Given the description of an element on the screen output the (x, y) to click on. 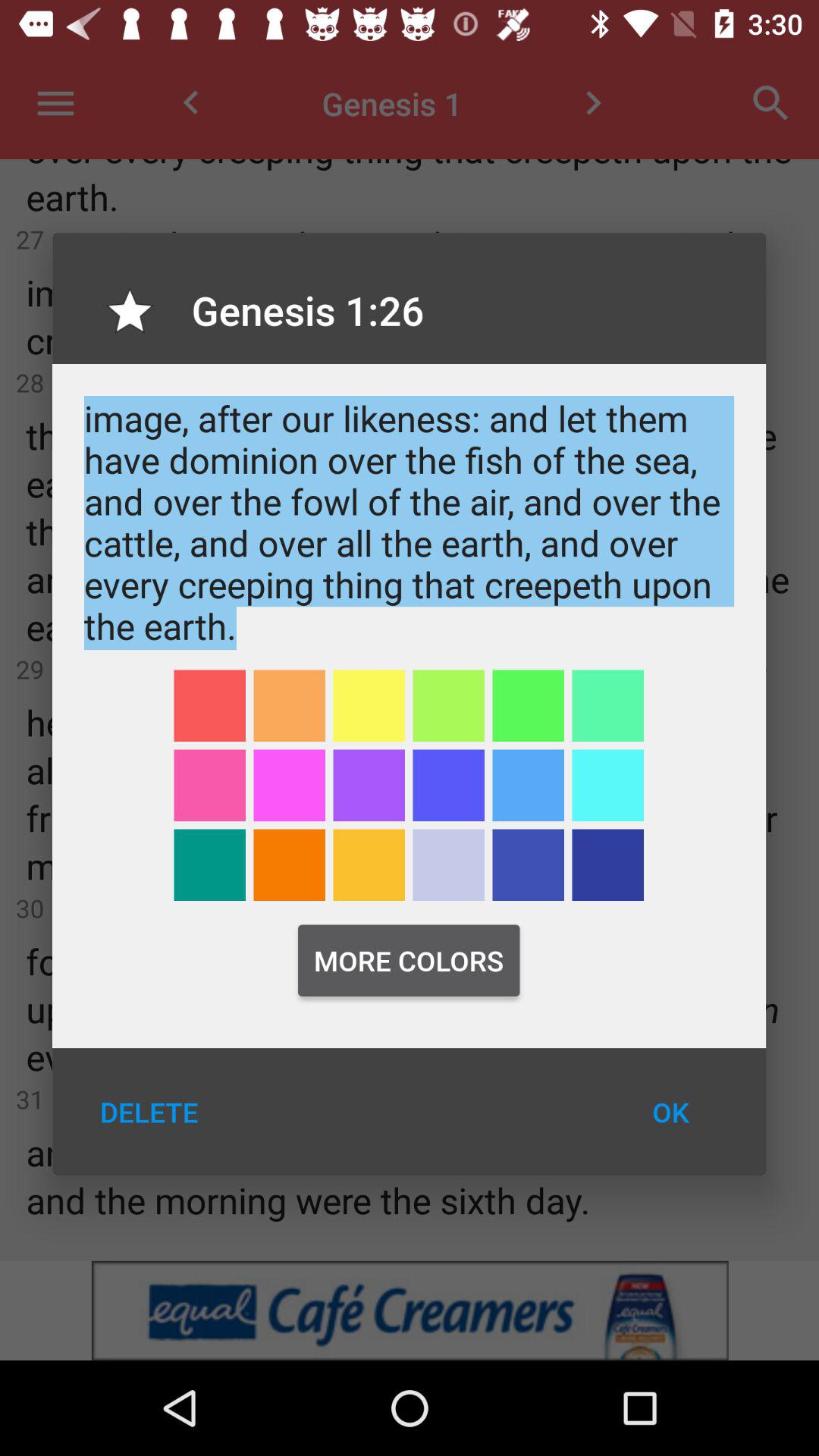
orange (289, 864)
